Given the description of an element on the screen output the (x, y) to click on. 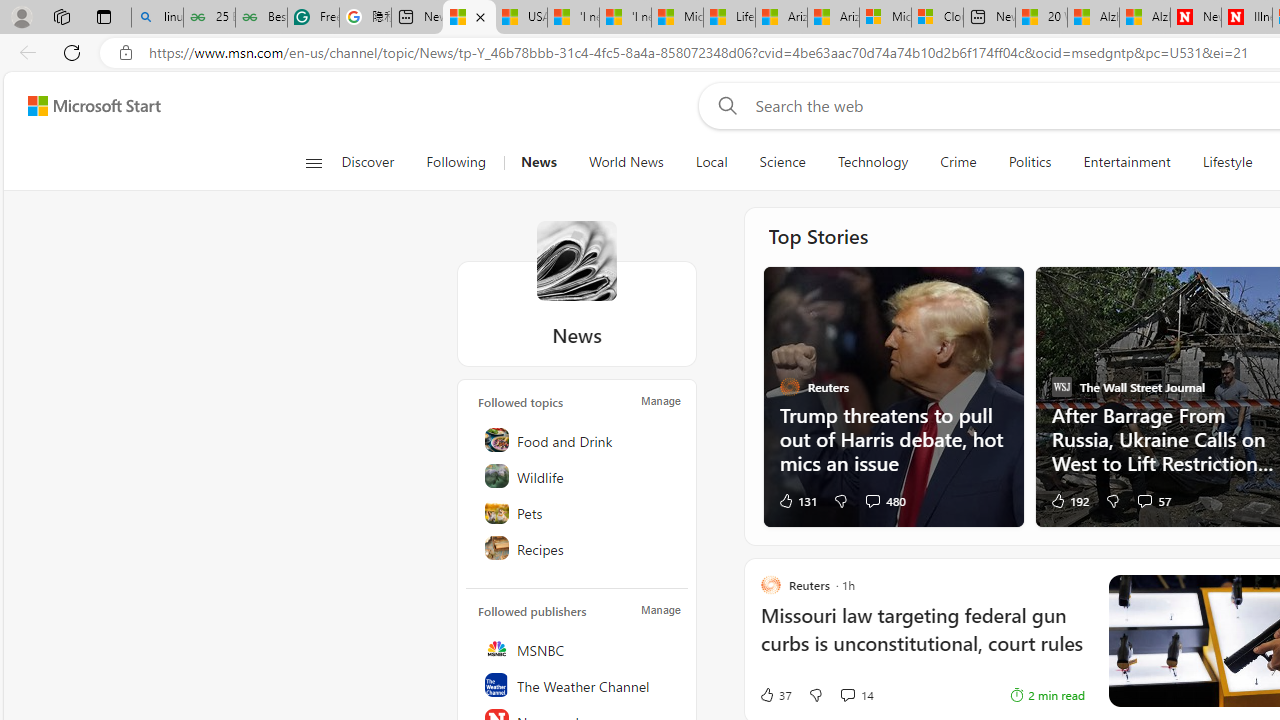
Food and Drink (578, 439)
News - MSN (469, 17)
Cloud Computing Services | Microsoft Azure (936, 17)
linux basic - Search (157, 17)
131 Like (797, 500)
